Given the description of an element on the screen output the (x, y) to click on. 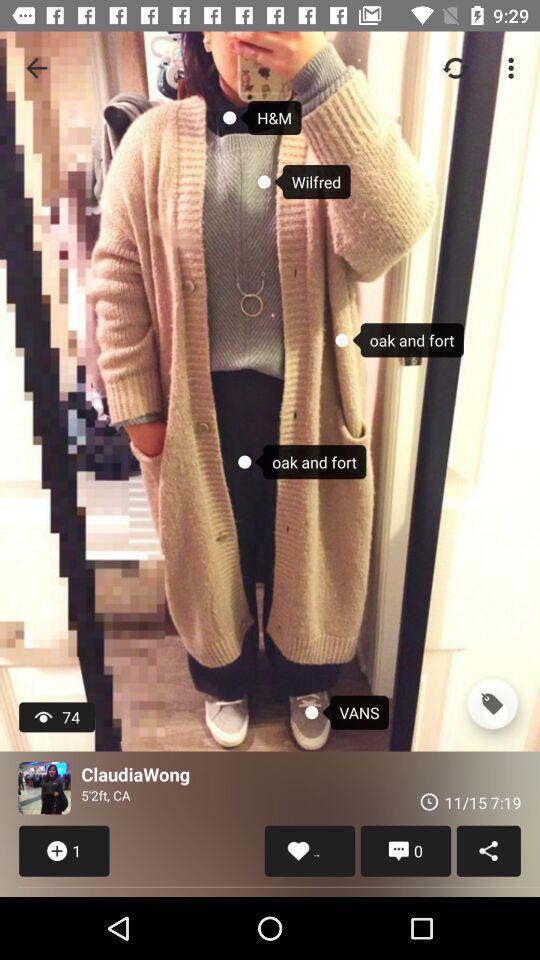
turn on icon above the 1 item (44, 787)
